Given the description of an element on the screen output the (x, y) to click on. 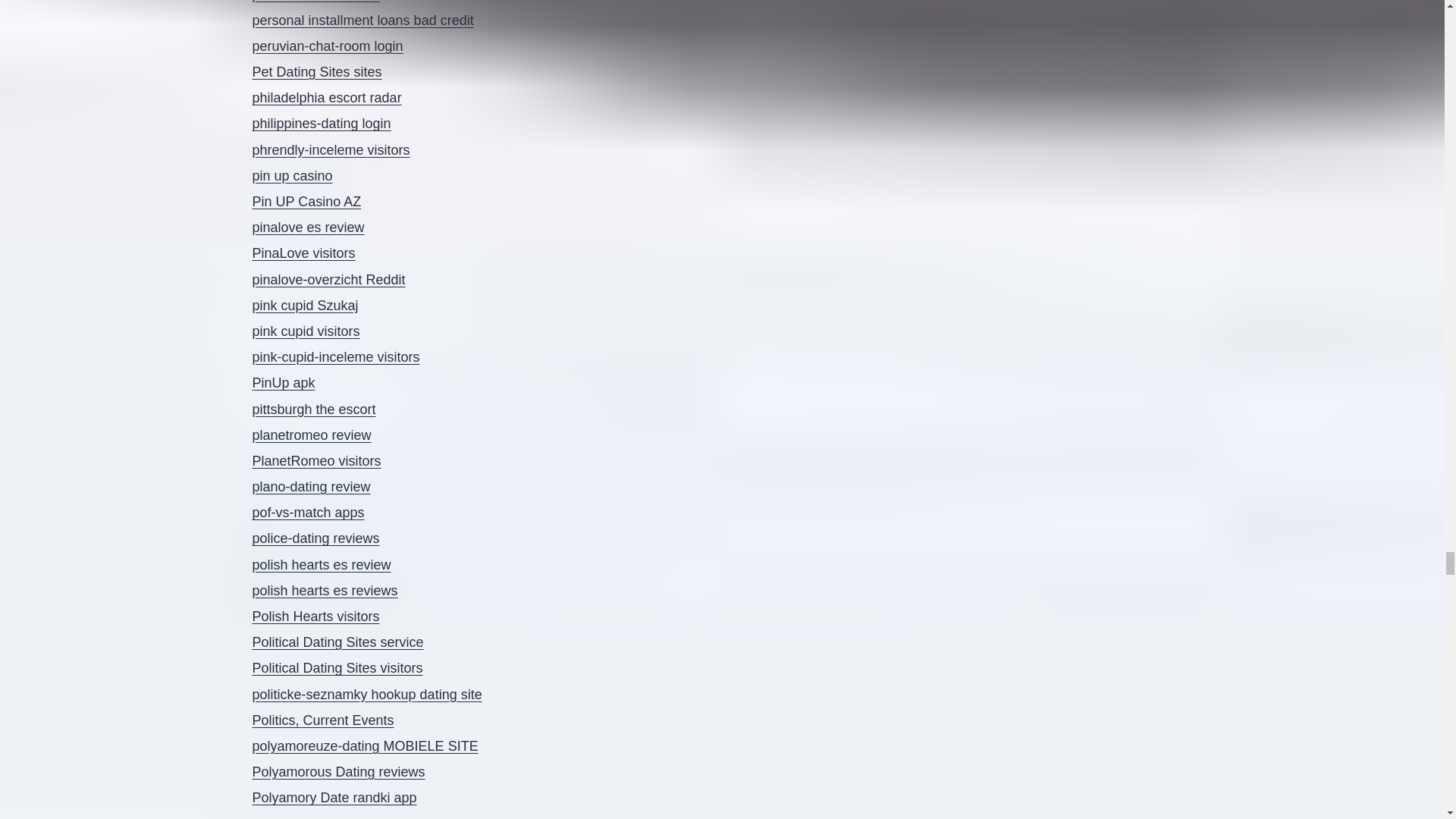
Politics, Current Events (322, 720)
